Given the description of an element on the screen output the (x, y) to click on. 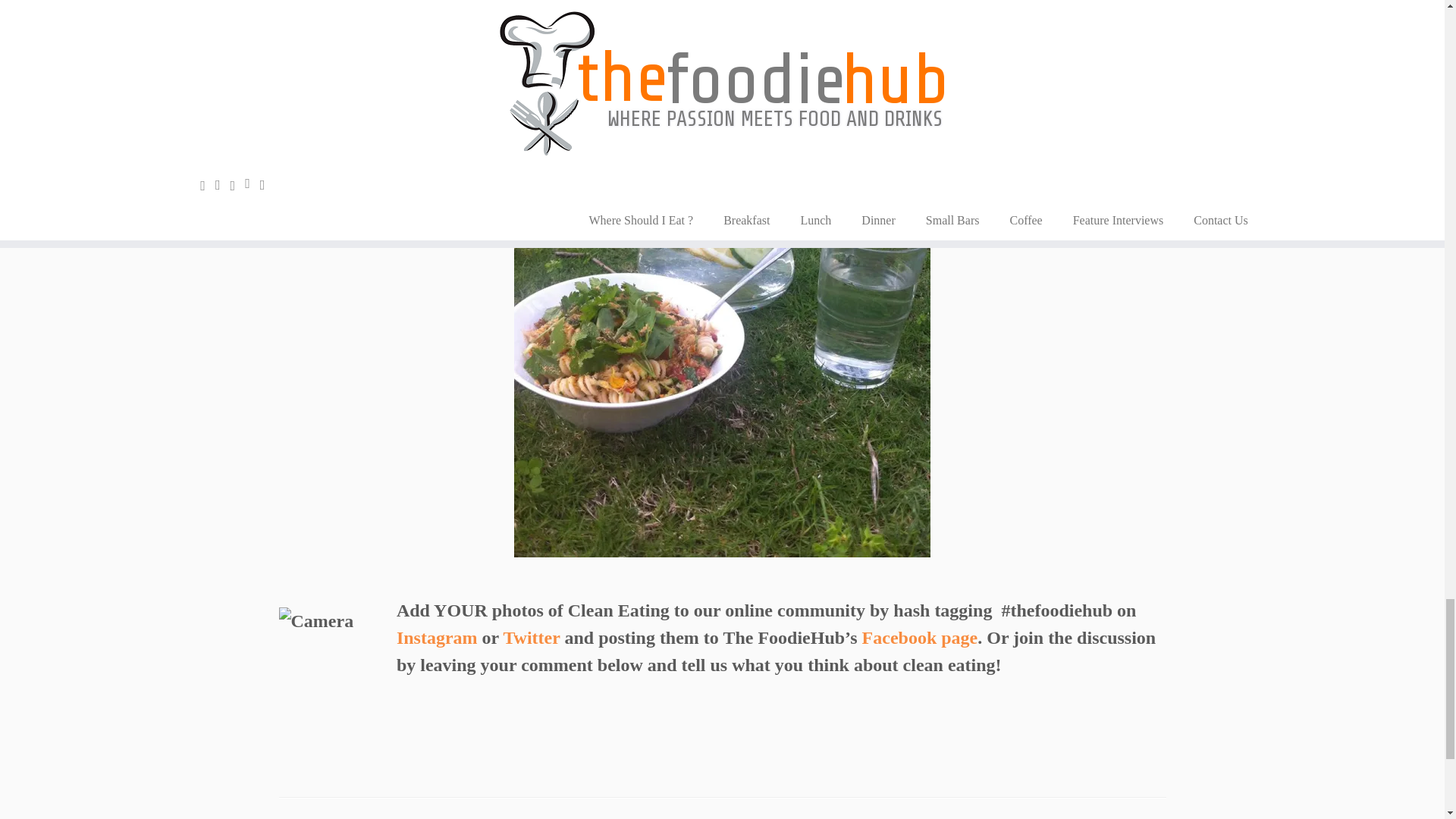
Facebook page (919, 637)
Facebook Page (919, 637)
Twitter (530, 637)
Instagram (436, 637)
Twitter (530, 637)
Instagram (436, 637)
